Given the description of an element on the screen output the (x, y) to click on. 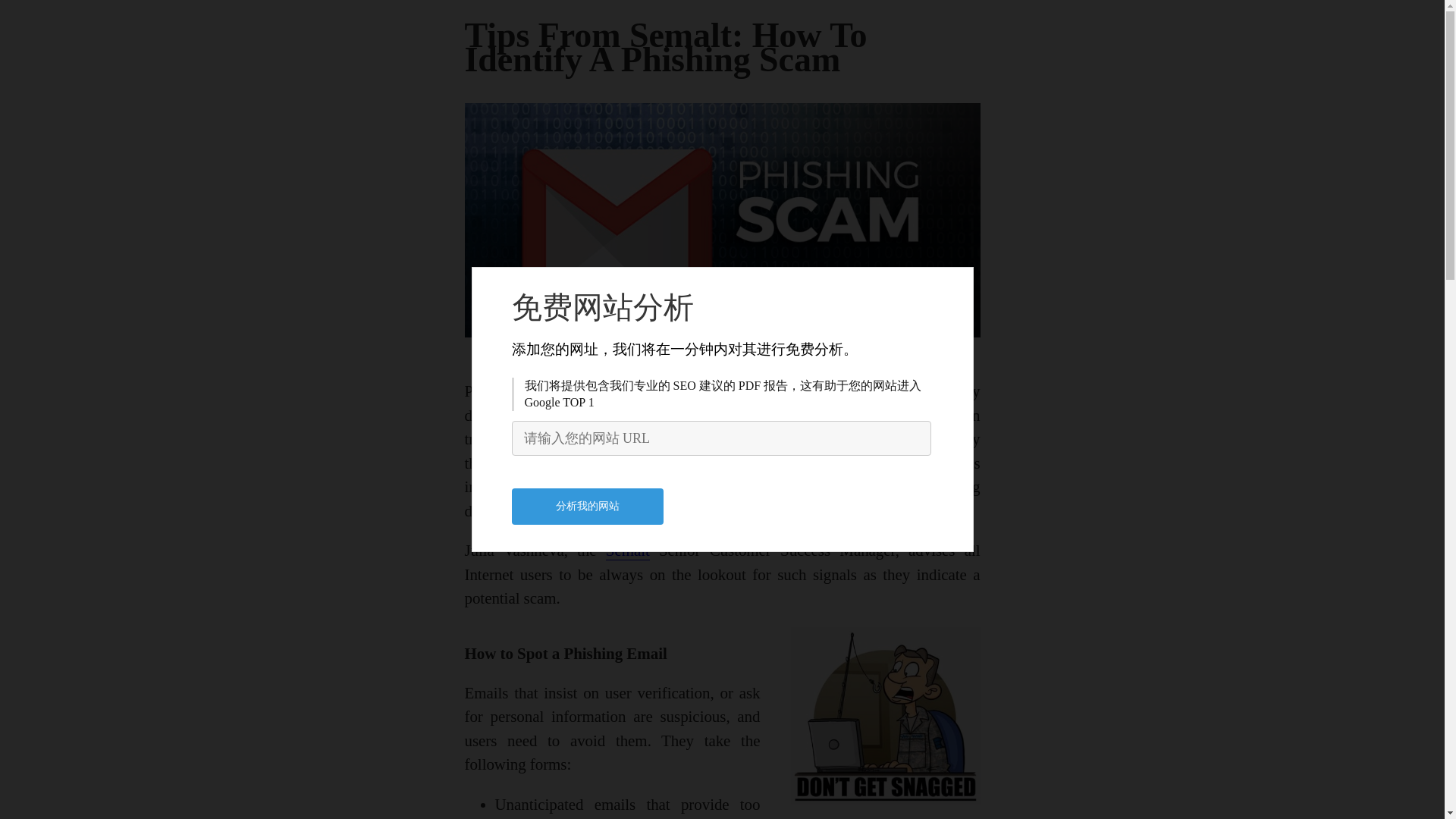
Semalt (627, 550)
